Given the description of an element on the screen output the (x, y) to click on. 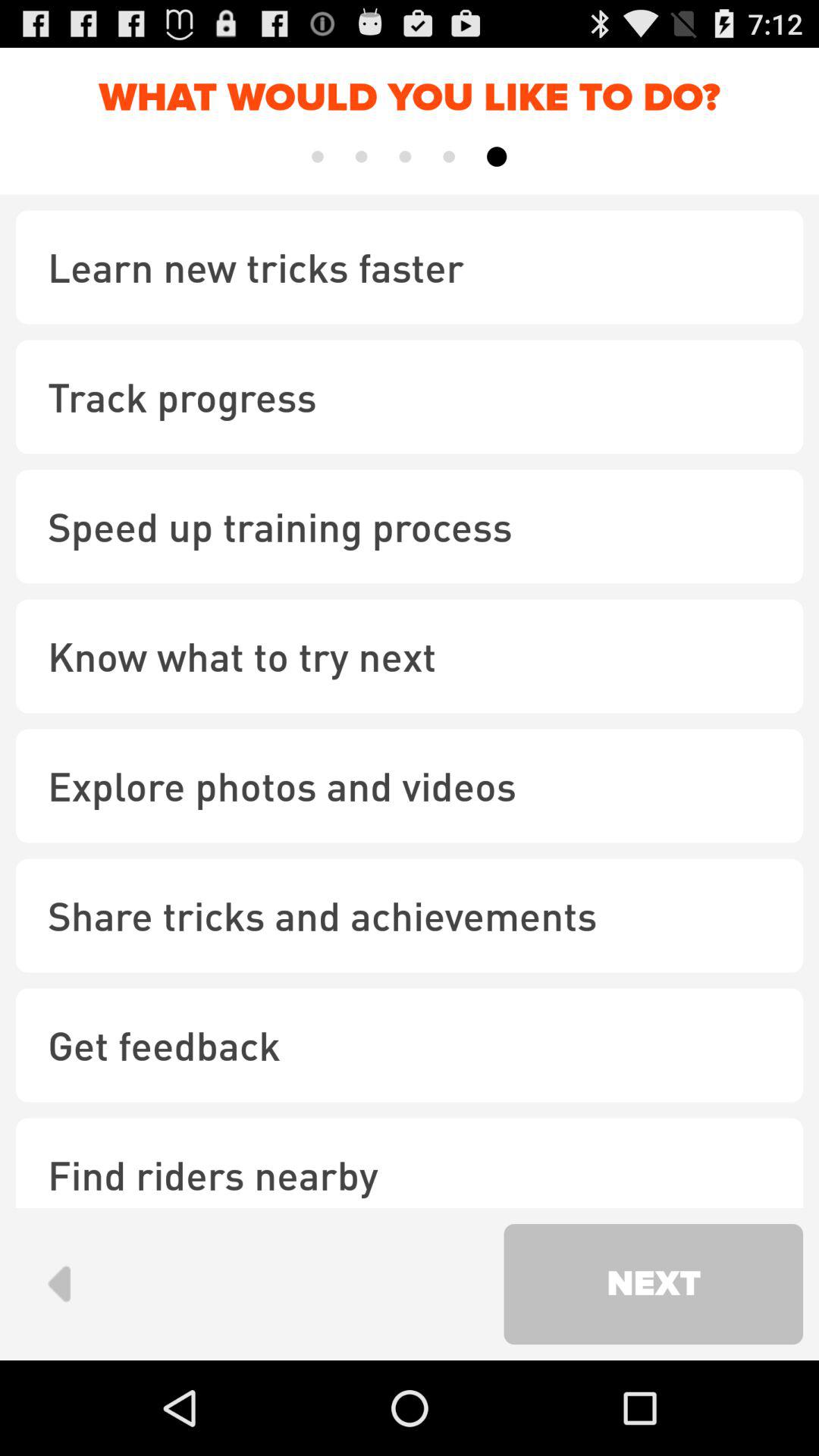
click item below track progress checkbox (409, 526)
